Given the description of an element on the screen output the (x, y) to click on. 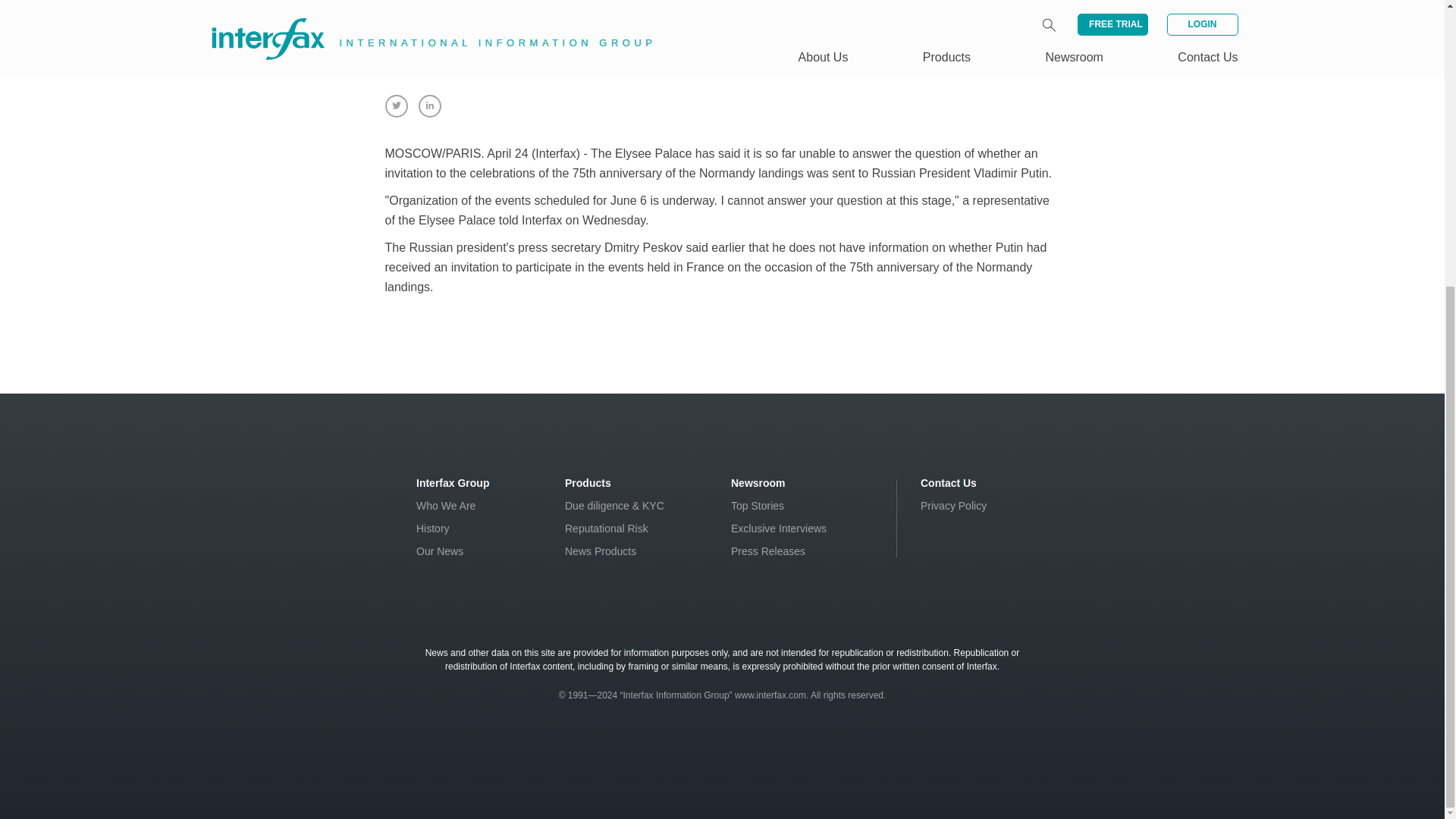
History (432, 528)
Our News (439, 551)
Who We Are (446, 505)
Interfax Group (452, 482)
